Given the description of an element on the screen output the (x, y) to click on. 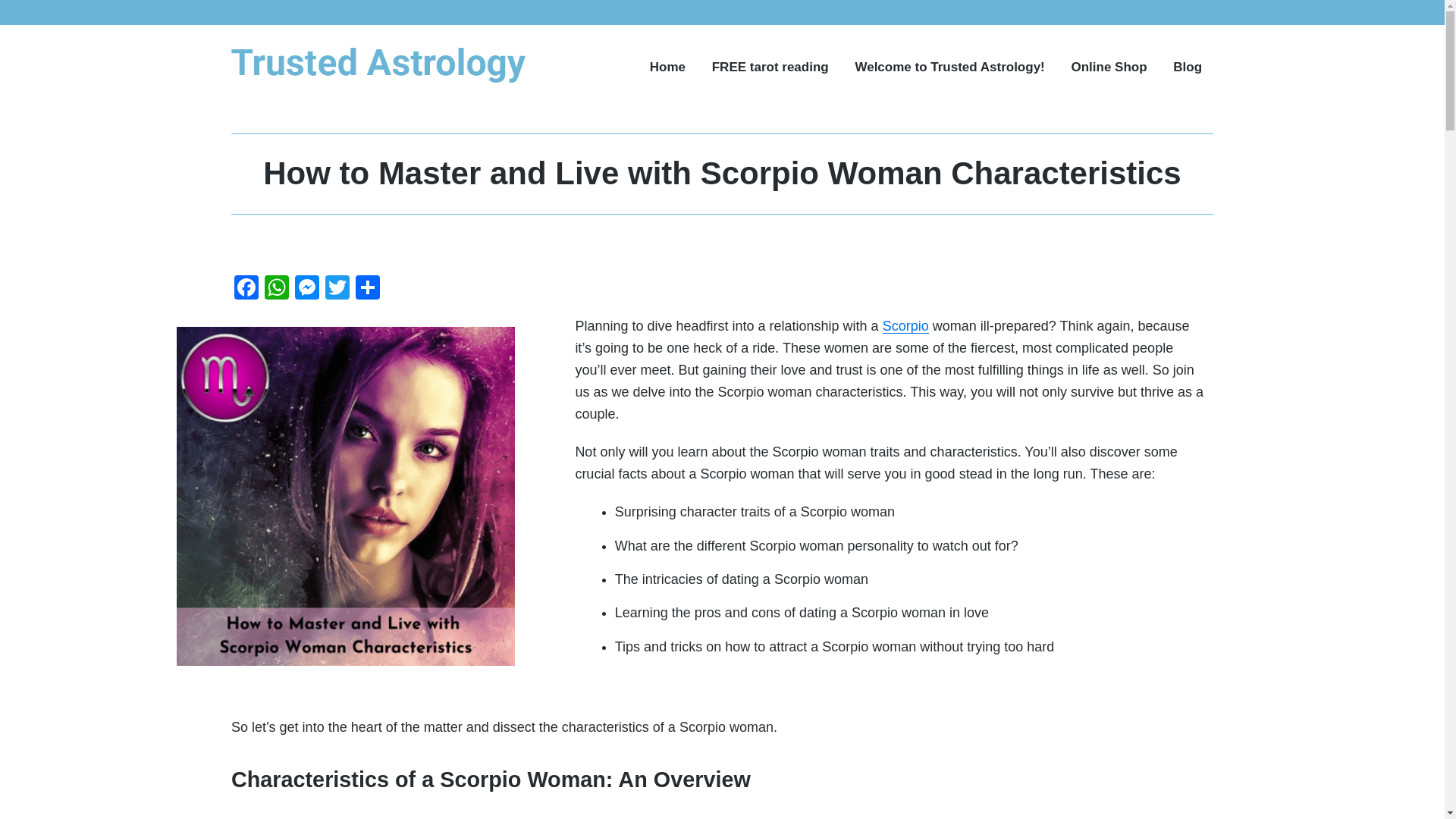
Facebook (246, 289)
Messenger (306, 289)
WhatsApp (277, 289)
Twitter (336, 289)
Trusted Astrology (314, 93)
Twitter (336, 289)
Home (667, 67)
WhatsApp (277, 289)
Messenger (306, 289)
Scorpio (905, 325)
